Given the description of an element on the screen output the (x, y) to click on. 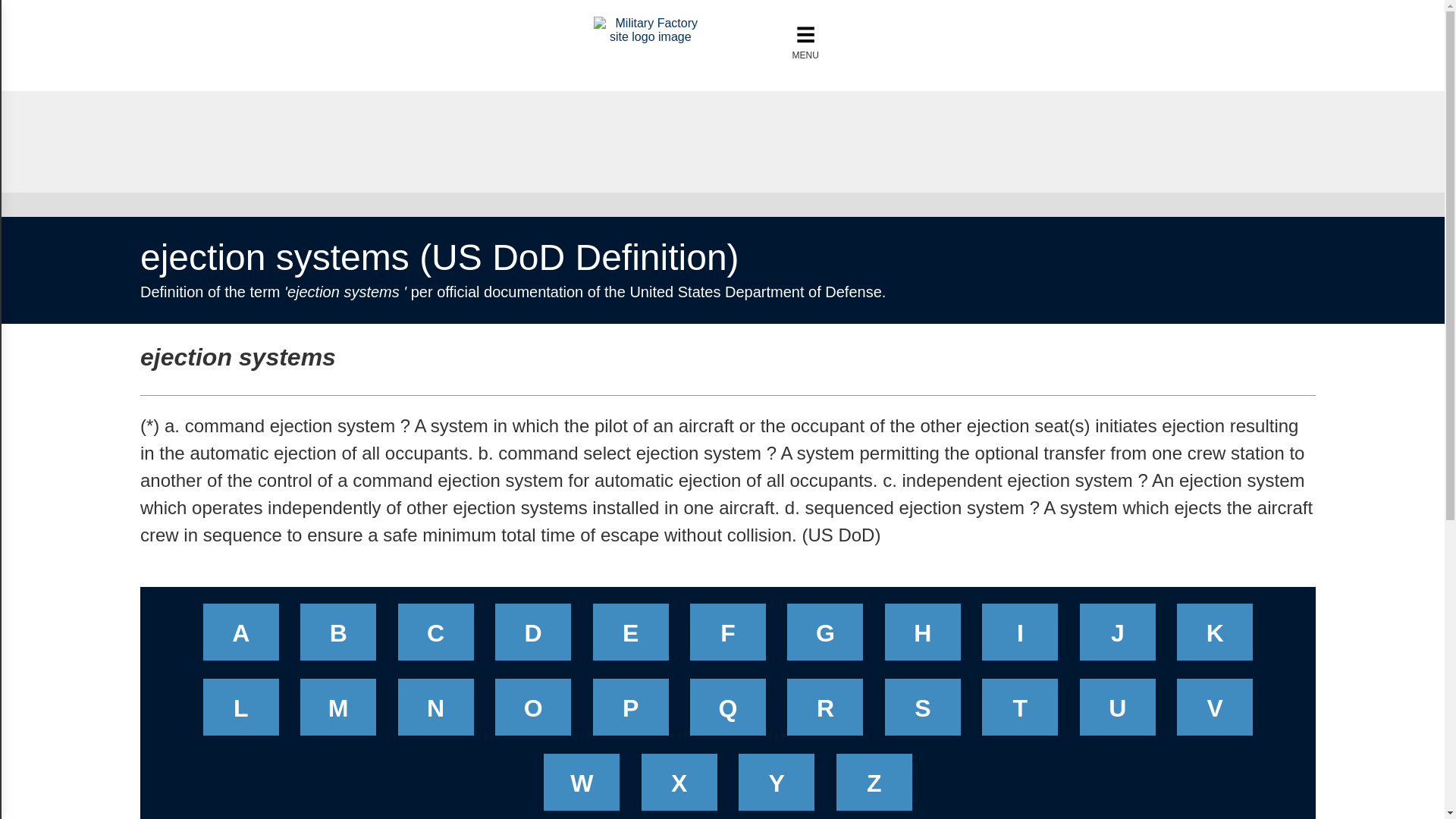
Military Weapons (650, 36)
I (1019, 636)
L (240, 712)
A (240, 636)
F (727, 636)
H (922, 636)
N (435, 712)
B (338, 636)
K (1214, 636)
C (435, 636)
R (824, 712)
P (630, 712)
G (824, 636)
O (532, 712)
M (338, 712)
